Given the description of an element on the screen output the (x, y) to click on. 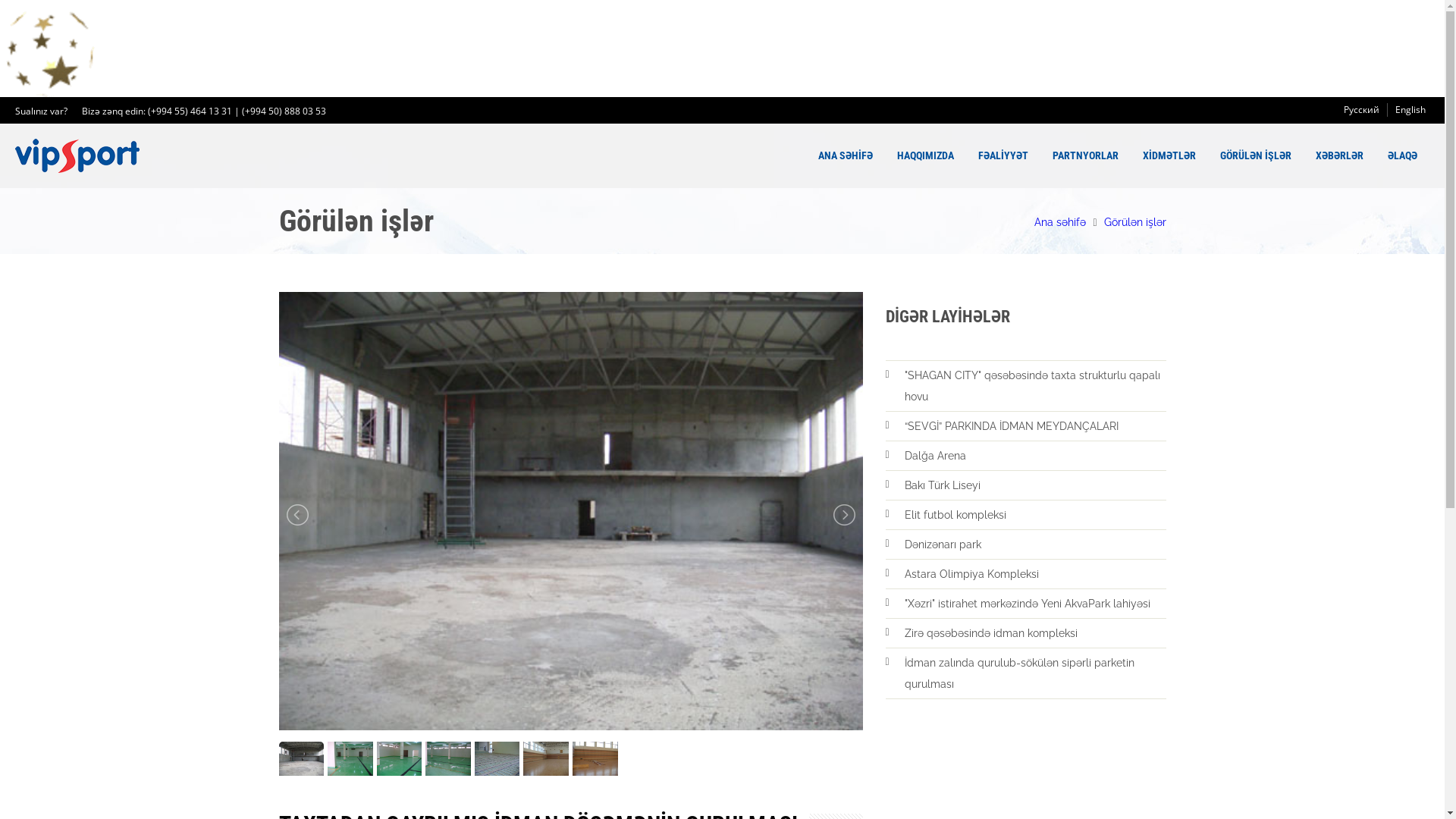
HAQQIMIZDA Element type: text (925, 155)
Elit futbol kompleksi Element type: text (1034, 514)
VIP Sport professional Element type: hover (77, 155)
Astara Olimpiya Kompleksi Element type: text (1034, 573)
English Element type: text (1410, 109)
PARTNYORLAR Element type: text (1085, 155)
